Given the description of an element on the screen output the (x, y) to click on. 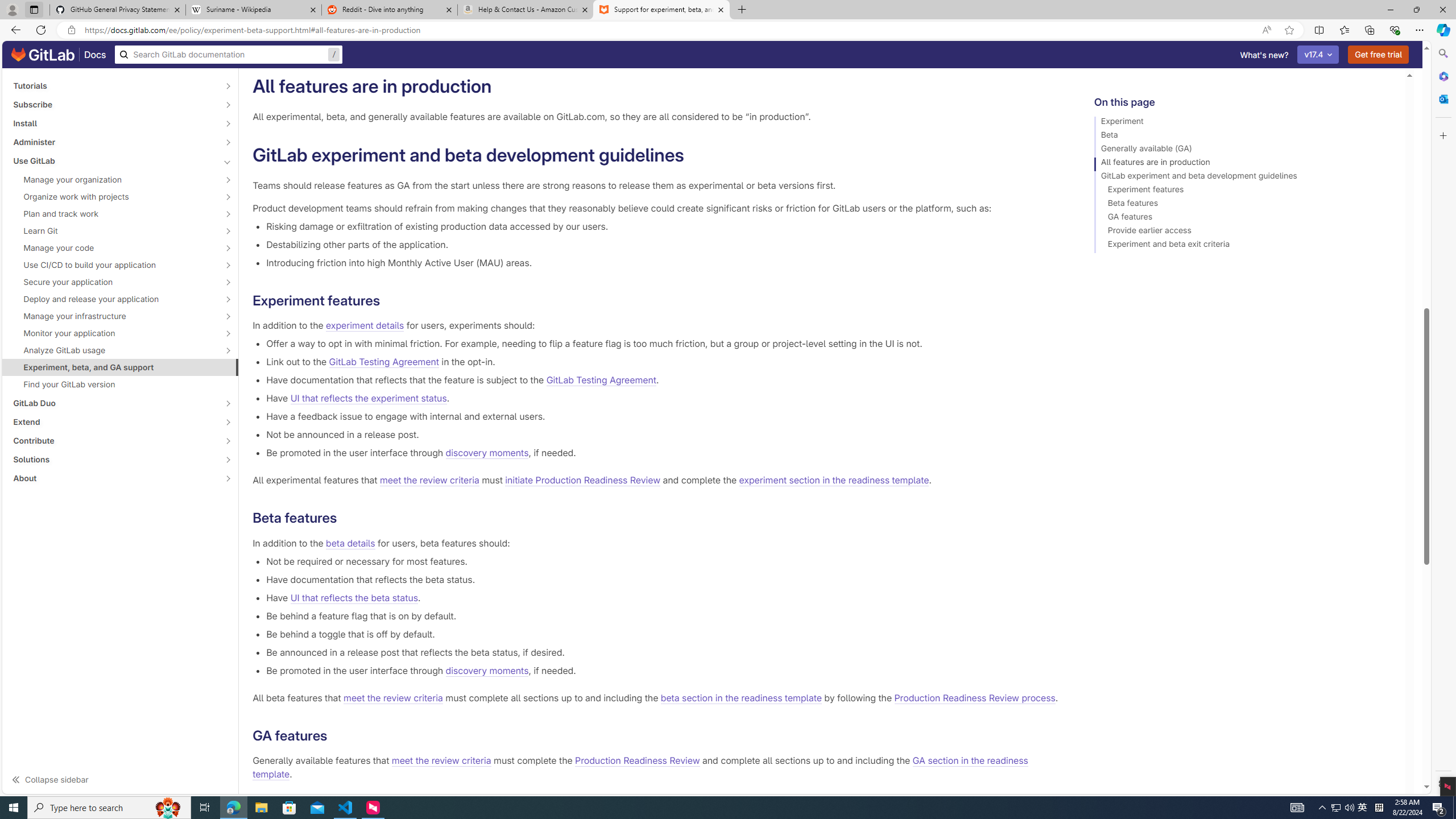
Organize work with projects (113, 196)
Be behind a toggle that is off by default. (662, 633)
Plan and track work (113, 213)
initiate Production Readiness Review (583, 480)
Learn Git (113, 230)
Analyze GitLab usage (113, 349)
experiment section in the readiness template (833, 480)
All features are in production (1244, 164)
Beta features (1244, 205)
Use CI/CD to build your application (113, 264)
